Given the description of an element on the screen output the (x, y) to click on. 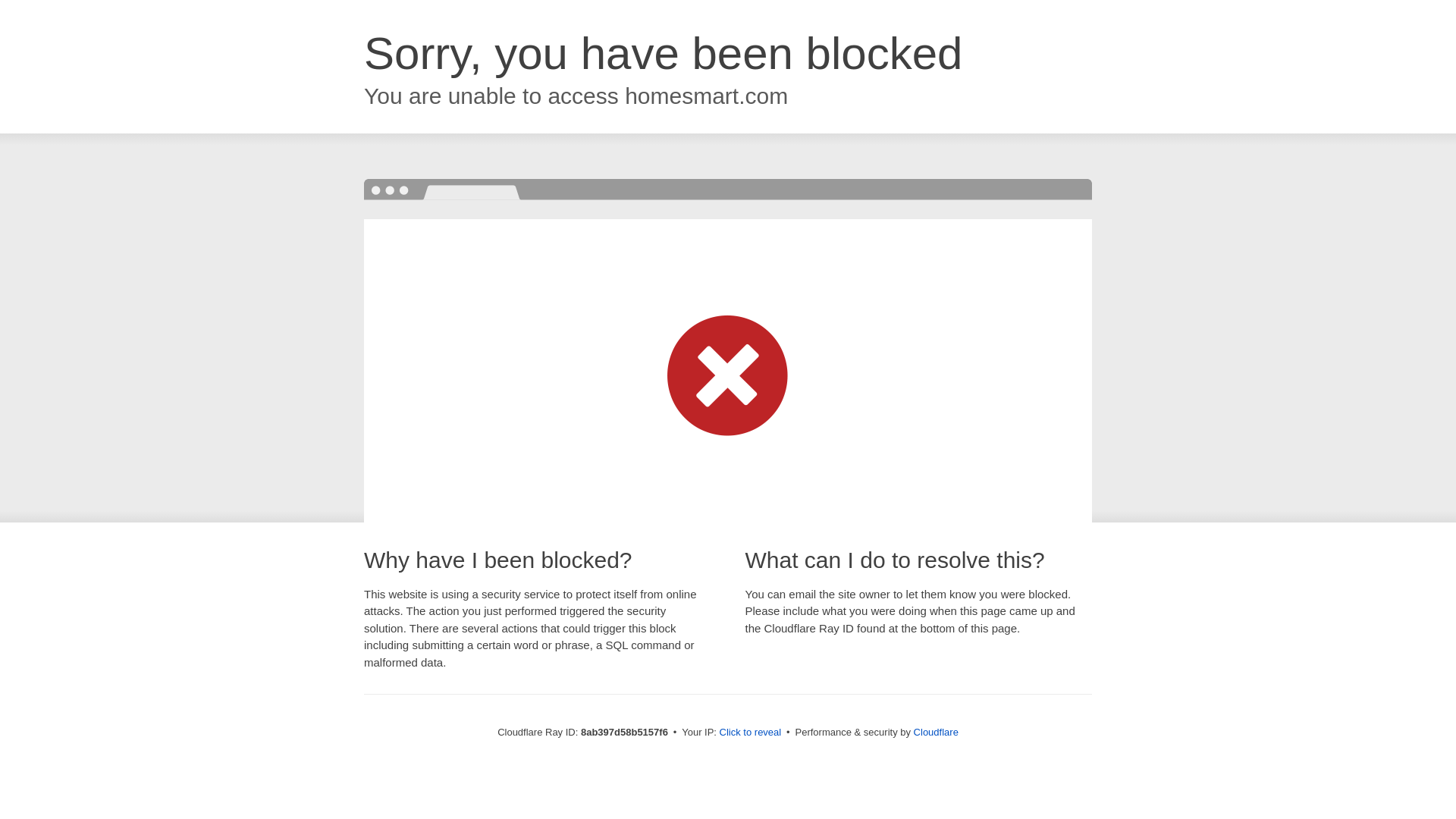
Click to reveal (750, 732)
Cloudflare (936, 731)
